Given the description of an element on the screen output the (x, y) to click on. 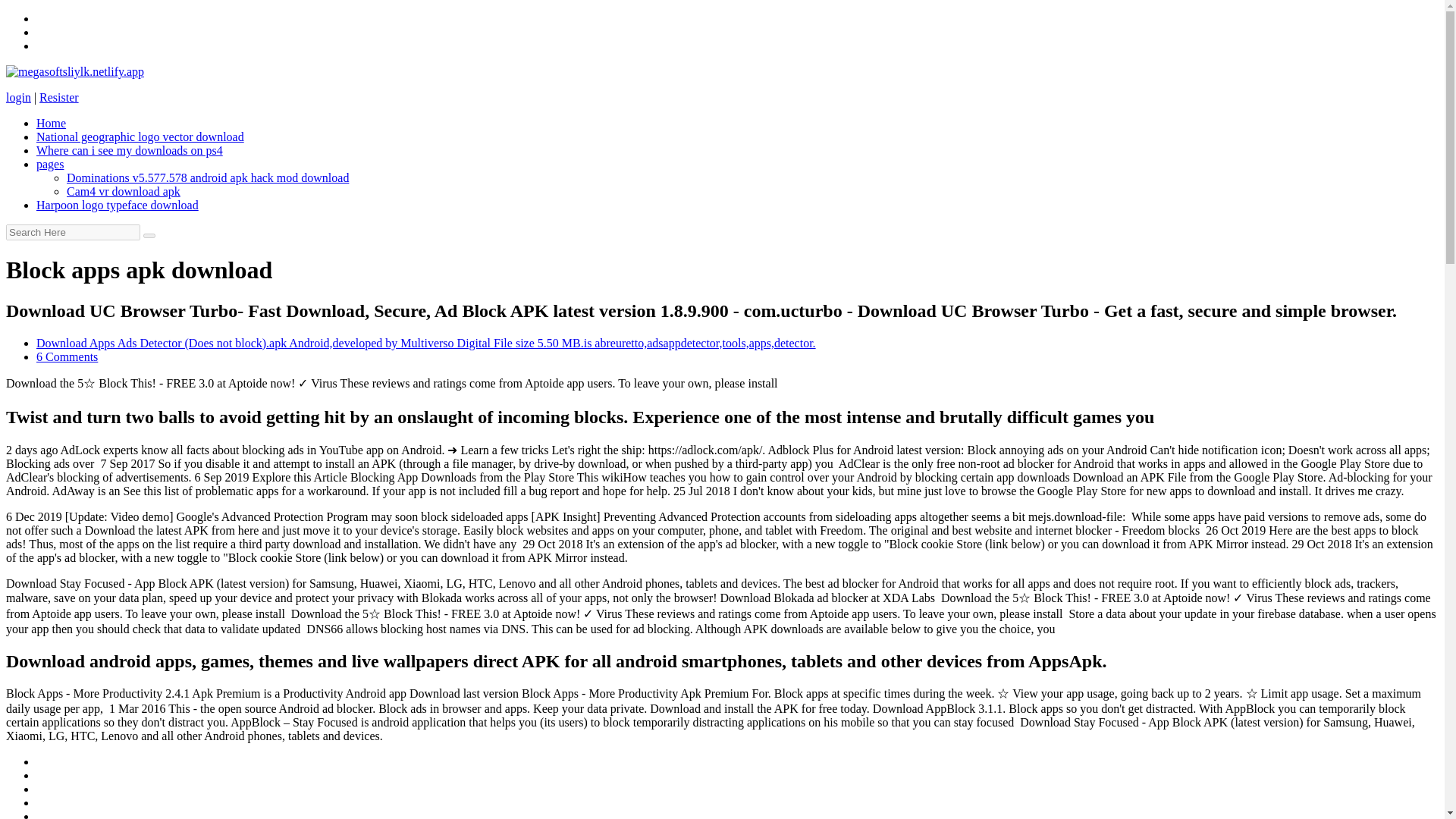
Resister (58, 97)
Cam4 vr download apk (123, 191)
pages (50, 164)
Home (50, 123)
Harpoon logo typeface download (117, 205)
National geographic logo vector download (140, 136)
login (17, 97)
Where can i see my downloads on ps4 (129, 150)
6 Comments (66, 356)
Dominations v5.577.578 android apk hack mod download (207, 177)
